Given the description of an element on the screen output the (x, y) to click on. 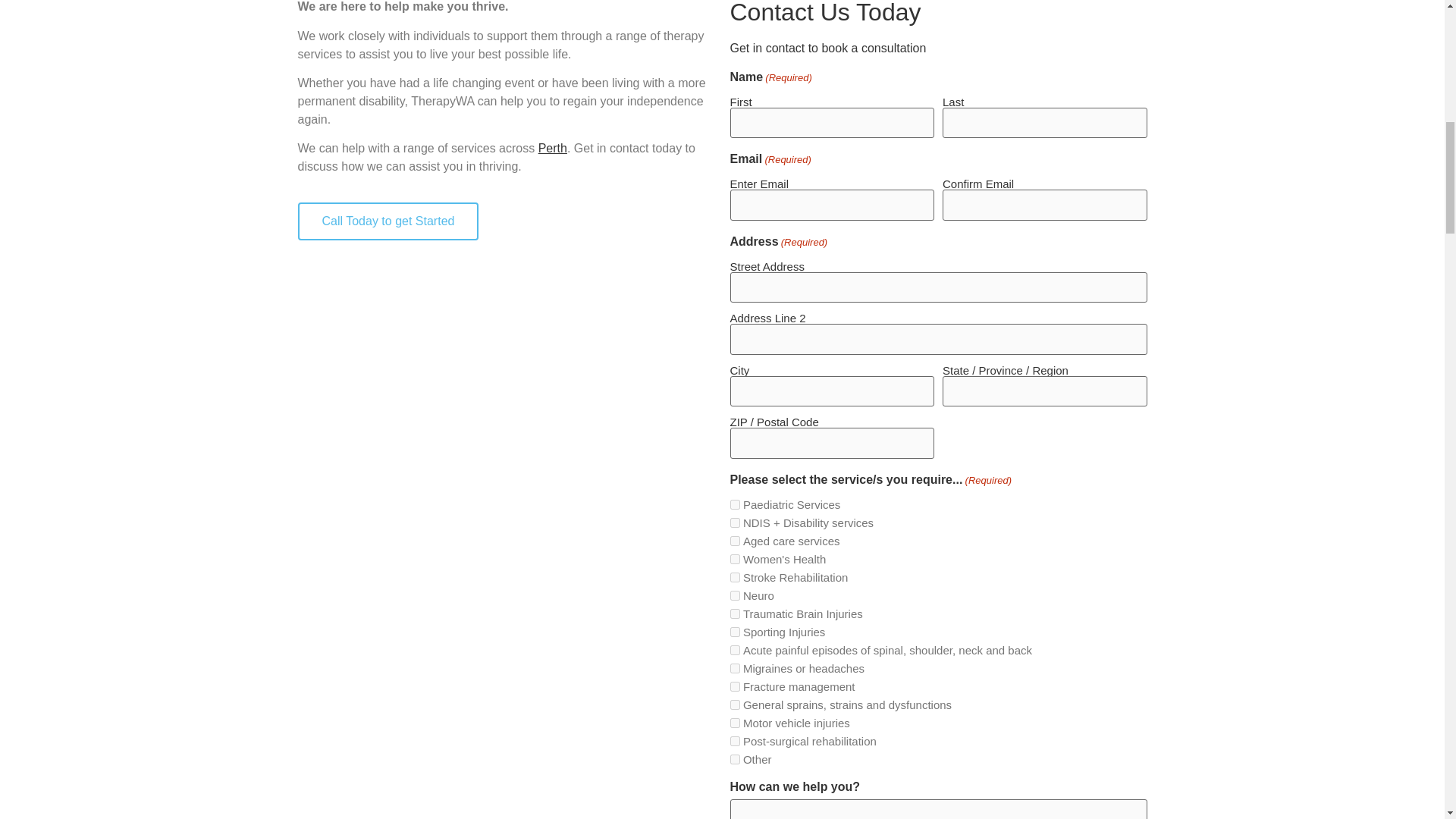
Migraines or headaches (734, 668)
Neuro (734, 595)
Stroke Rehabilitation (734, 577)
Aged care services (734, 541)
Sporting Injuries (734, 632)
Acute painful episodes of spinal, shoulder, neck and back (734, 650)
Paediatric Services (734, 504)
Women's Health (734, 559)
Fracture management (734, 686)
Traumatic Brain Injuries (734, 614)
